Given the description of an element on the screen output the (x, y) to click on. 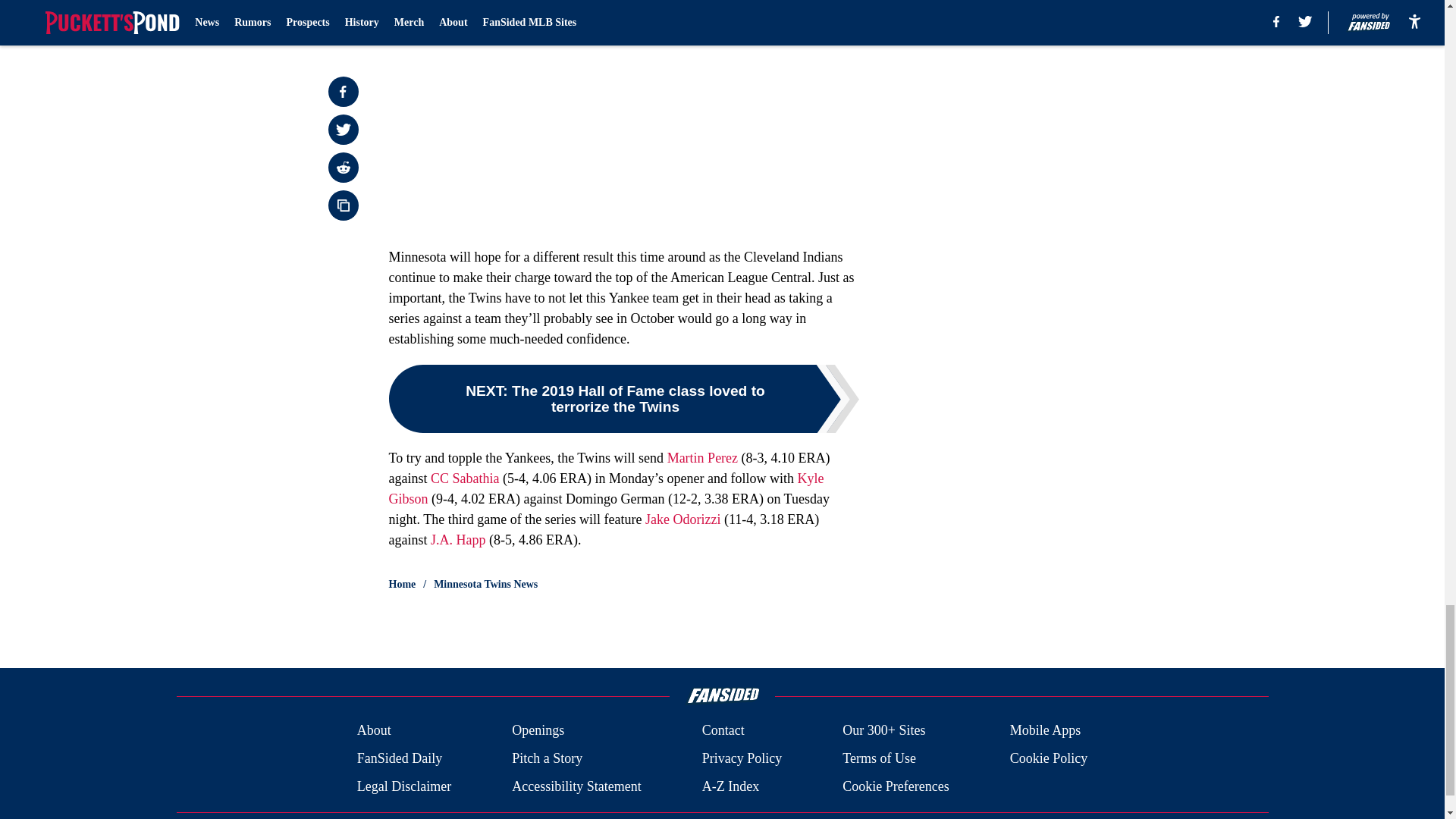
Jake Odorizzi (682, 519)
J.A. Happ (458, 539)
Home (401, 584)
Martin Perez (702, 458)
CC Sabathia (464, 478)
Kyle Gibson (606, 488)
